Given the description of an element on the screen output the (x, y) to click on. 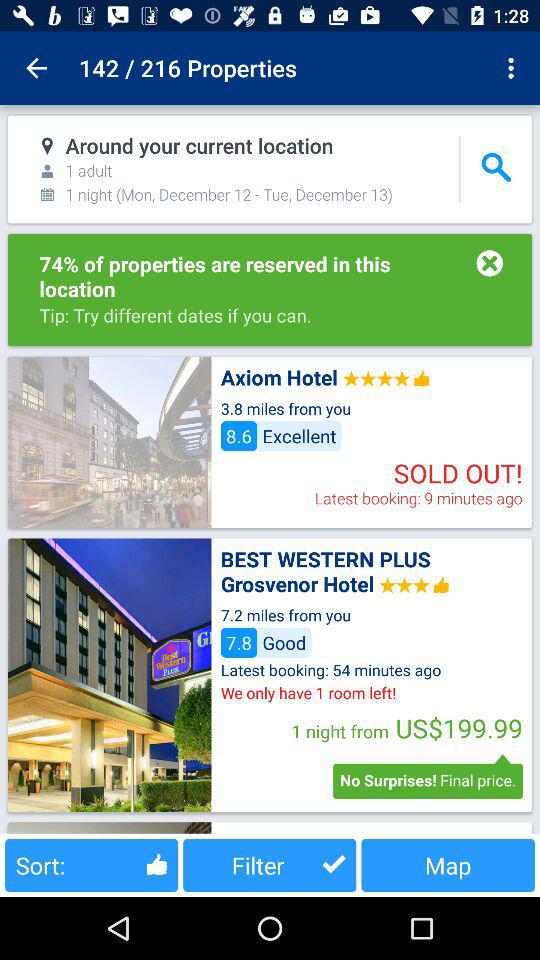
select the map button (447, 864)
